Given the description of an element on the screen output the (x, y) to click on. 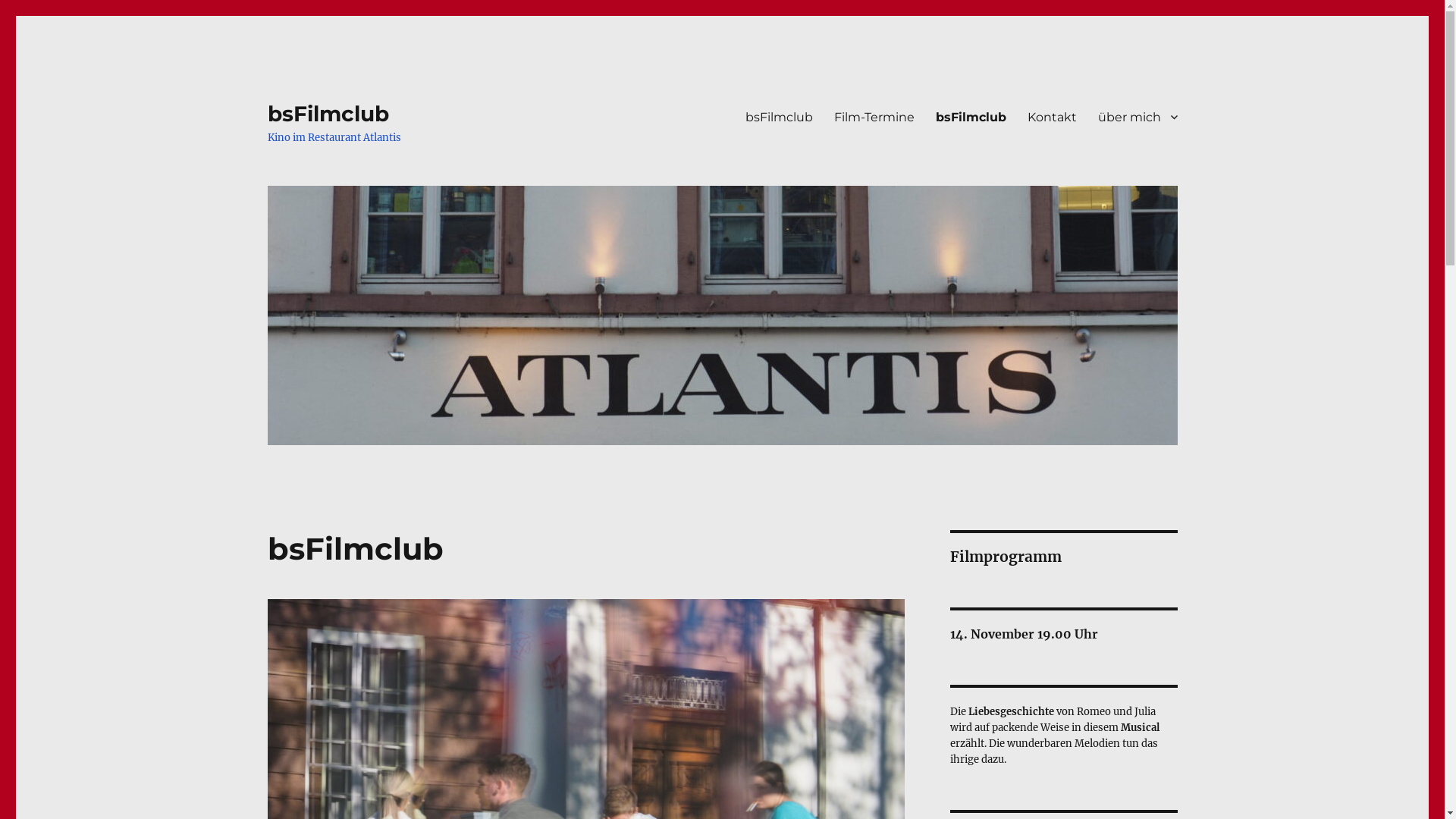
bsFilmclub Element type: text (327, 113)
bsFilmclub Element type: text (778, 116)
Film-Termine Element type: text (874, 116)
Kontakt Element type: text (1051, 116)
bsFilmclub Element type: text (970, 116)
